Given the description of an element on the screen output the (x, y) to click on. 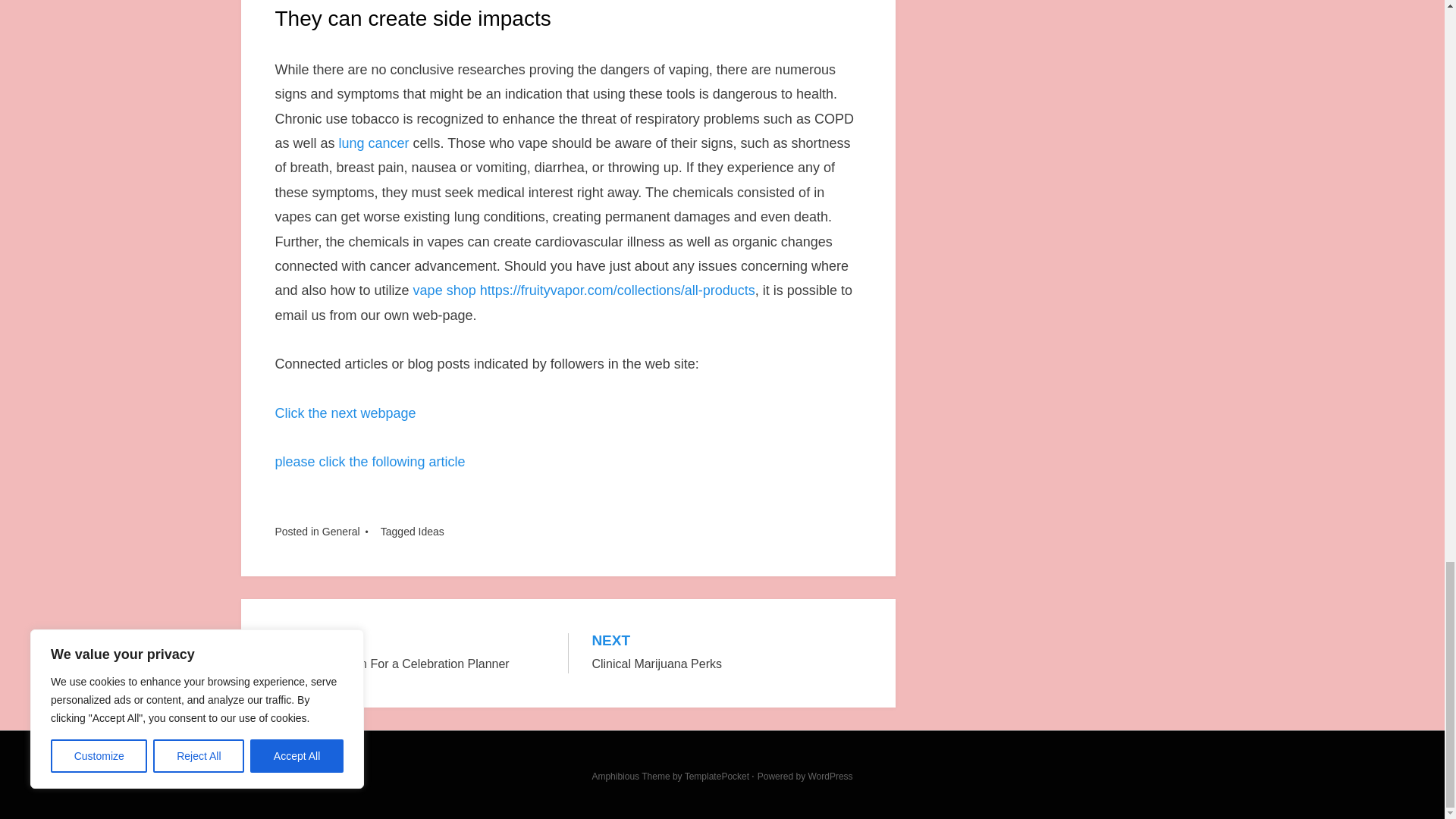
Click the next webpage (344, 412)
lung cancer (374, 142)
General (340, 531)
please click the following article (369, 461)
Ideas (726, 653)
TemplatePocket (431, 531)
WordPress (409, 653)
